Given the description of an element on the screen output the (x, y) to click on. 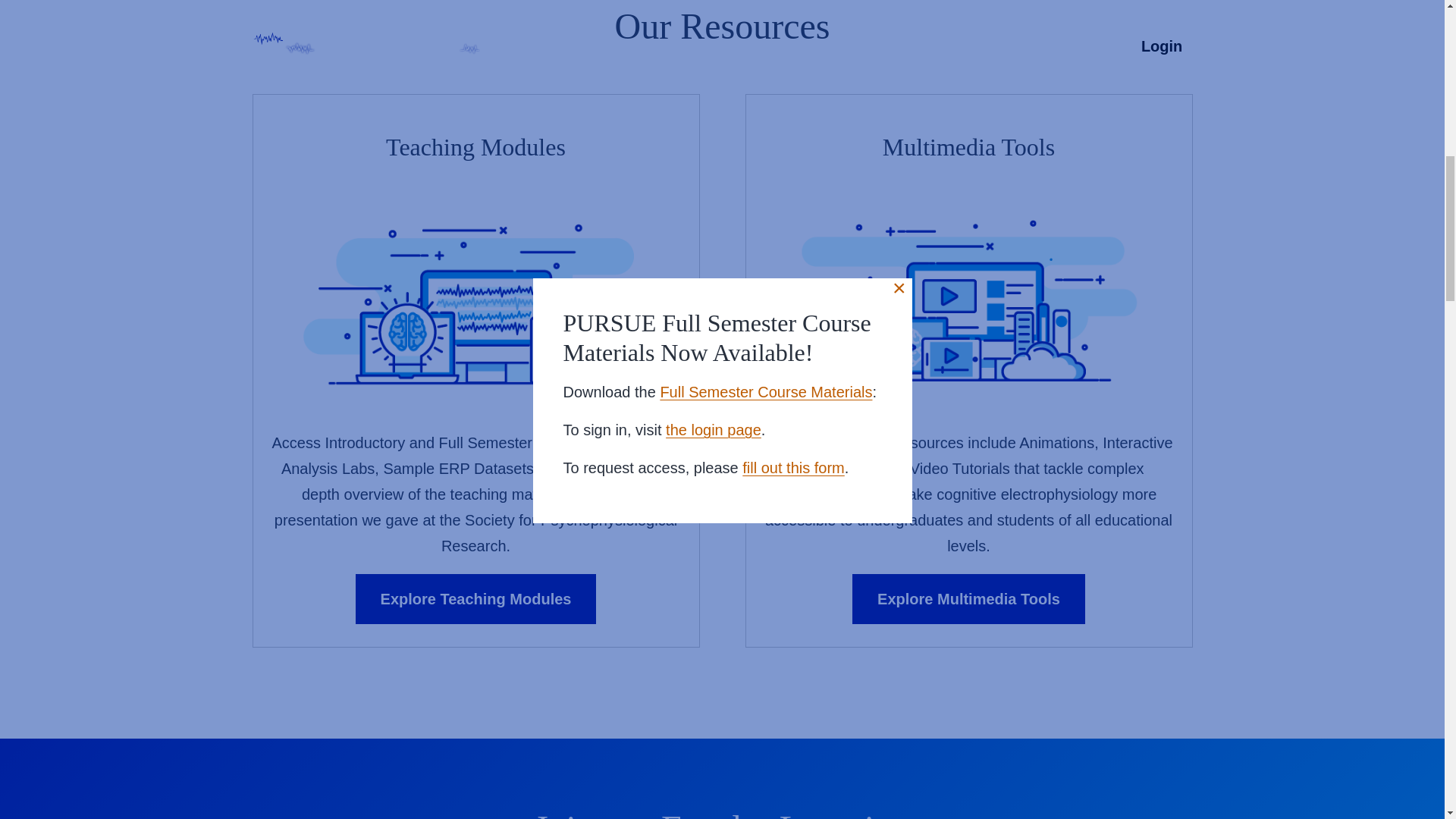
Explore Multimedia Tools (967, 599)
watch (602, 494)
Explore Teaching Modules (475, 599)
